Given the description of an element on the screen output the (x, y) to click on. 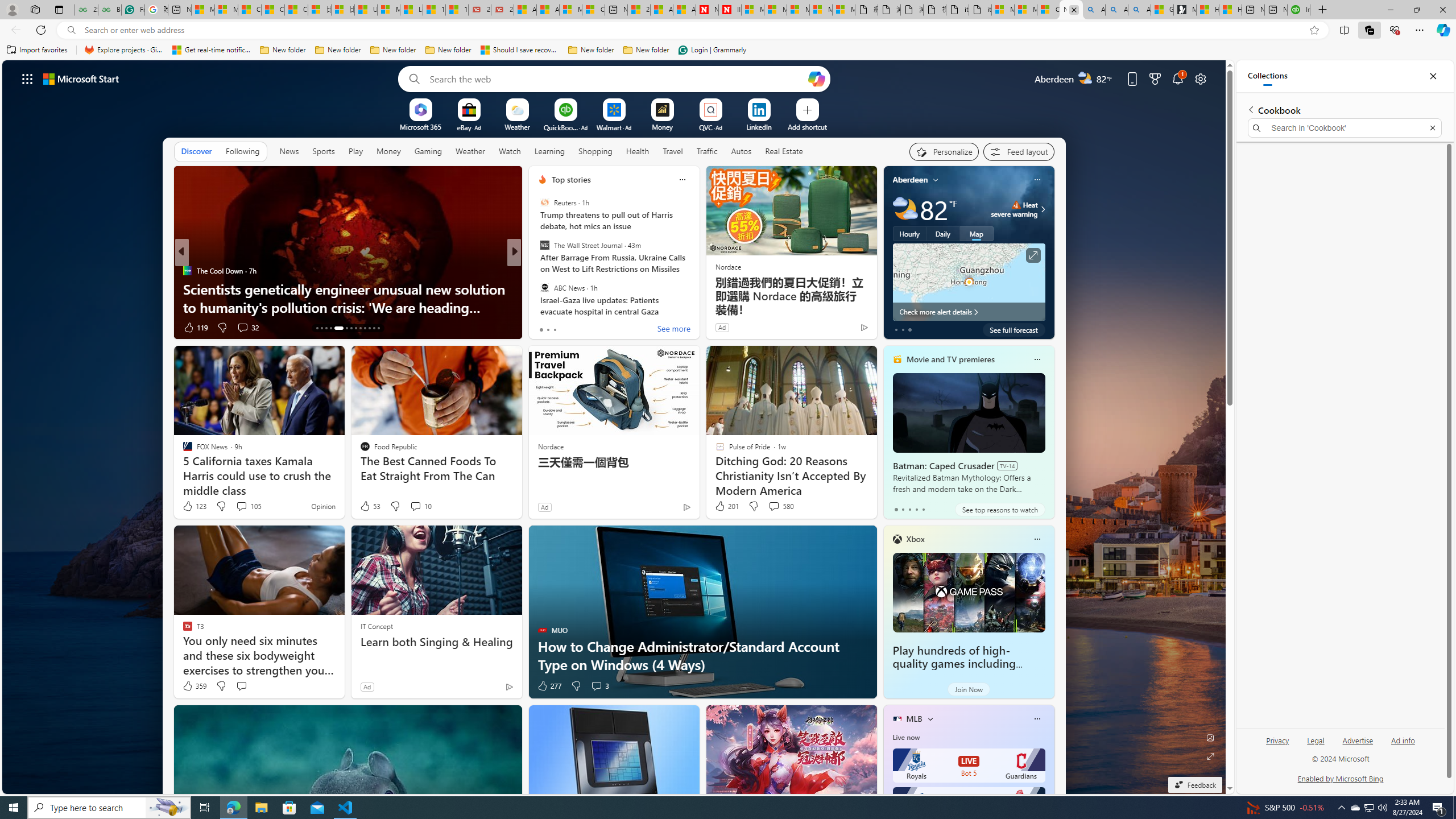
AutomationID: tab-16 (330, 328)
Top stories (571, 179)
Cloud Computing Services | Microsoft Azure (593, 9)
313 Like (545, 327)
This story is trending (146, 329)
359 Like (193, 685)
Donald Trump Goes On Biggest X Spree Since Jan. 6 (697, 307)
Royals LIVE Bot 5 Guardians (968, 765)
itconcepthk.com/projector_solutions.mp4 (979, 9)
Exit search (1432, 127)
